Given the description of an element on the screen output the (x, y) to click on. 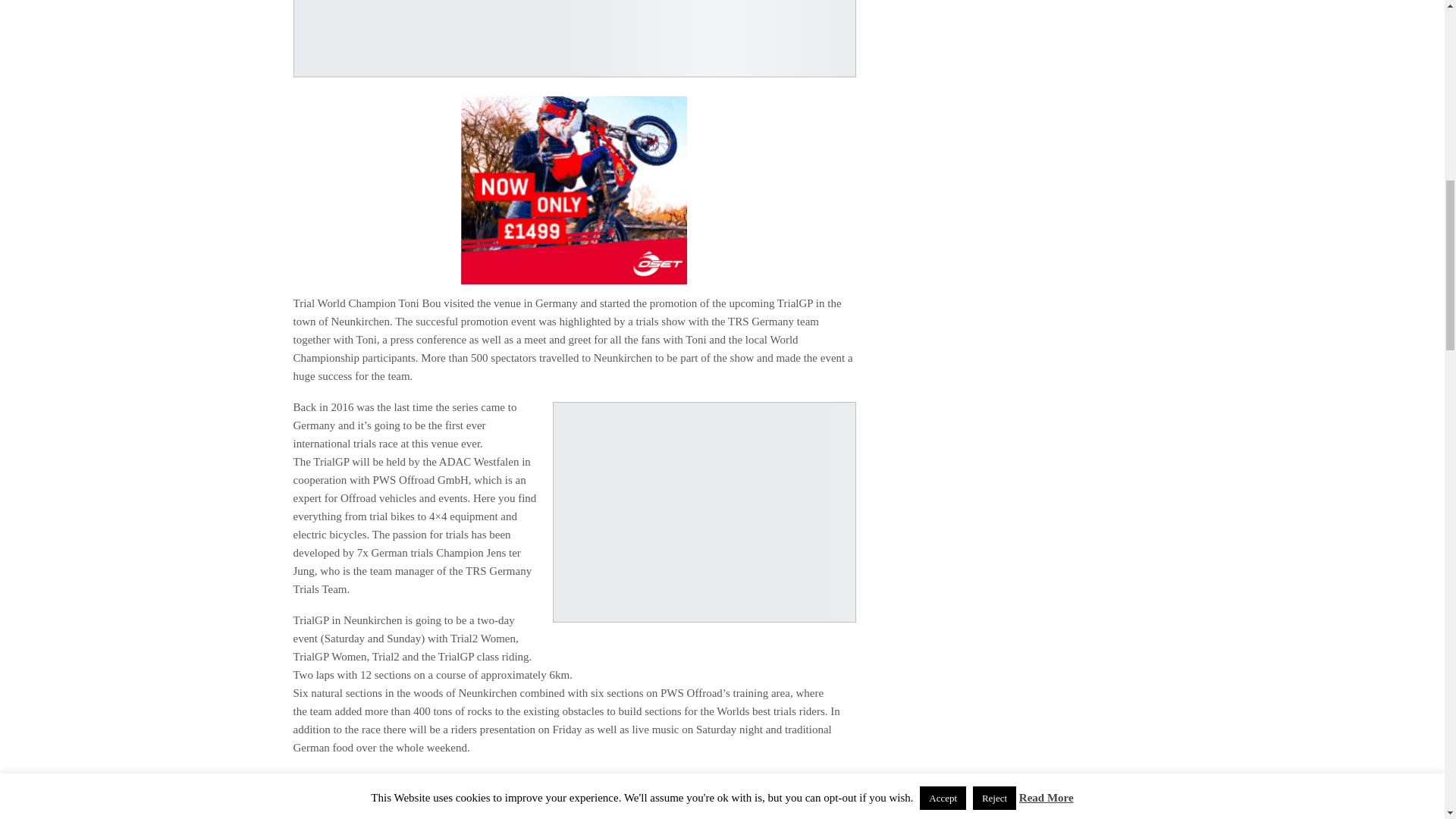
Page 1 (574, 714)
